Given the description of an element on the screen output the (x, y) to click on. 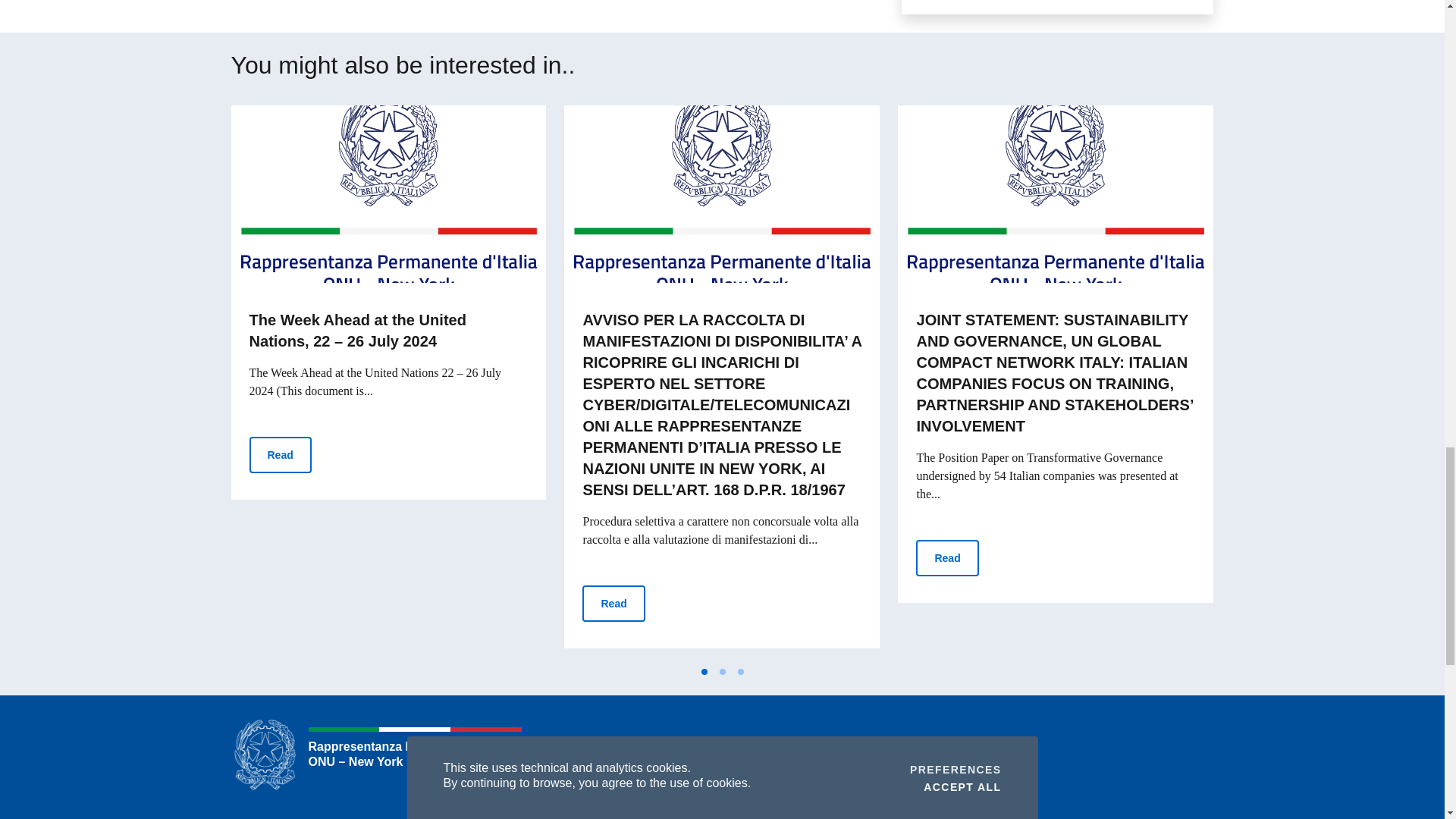
maeci-rappresentanza-permanente-italia-v-it (388, 193)
maeci-rappresentanza-permanente-italia-v-it (721, 193)
maeci-rappresentanza-permanente-italia-v-it (1055, 193)
